Given the description of an element on the screen output the (x, y) to click on. 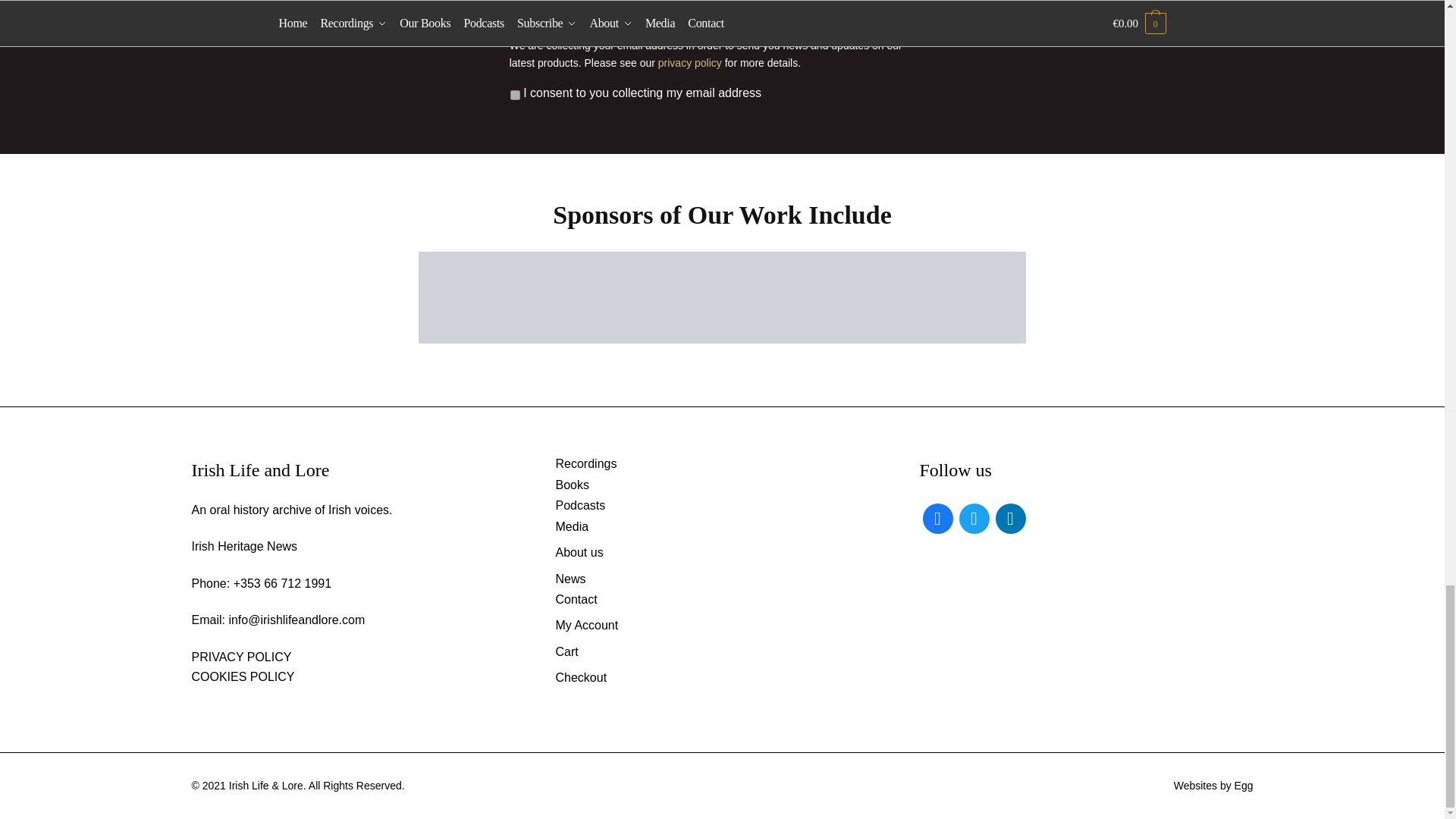
Facebook (936, 517)
Twitter (973, 517)
Subscribe (981, 15)
I consent to you collecting my email address (515, 94)
Instagram (1009, 517)
